Given the description of an element on the screen output the (x, y) to click on. 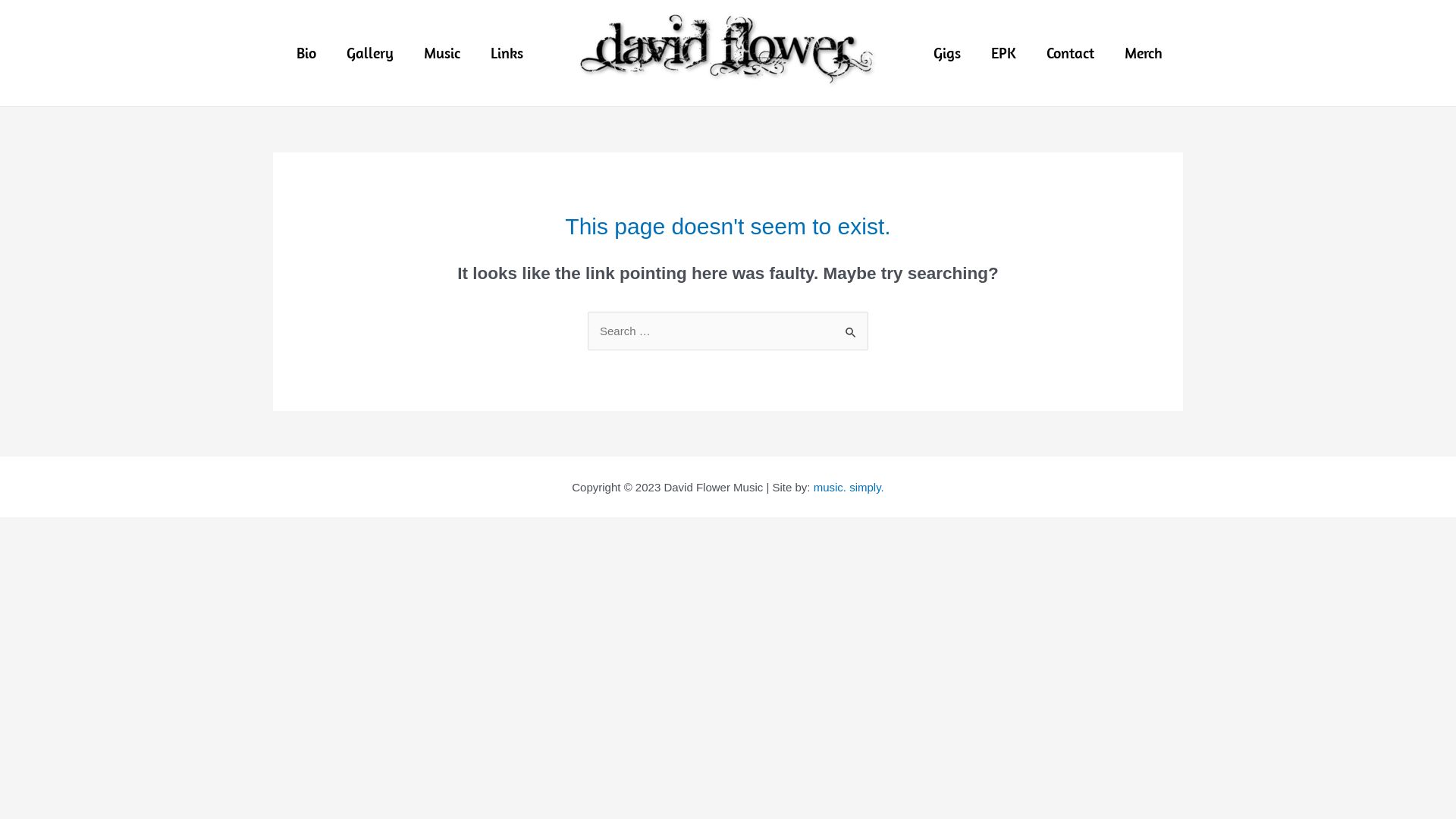
Merch Element type: text (1142, 52)
Gigs Element type: text (946, 52)
EPK Element type: text (1002, 52)
Links Element type: text (505, 52)
Search Element type: text (851, 326)
Contact Element type: text (1070, 52)
music. simply. Element type: text (848, 486)
Gallery Element type: text (368, 52)
Bio Element type: text (305, 52)
Music Element type: text (440, 52)
